Given the description of an element on the screen output the (x, y) to click on. 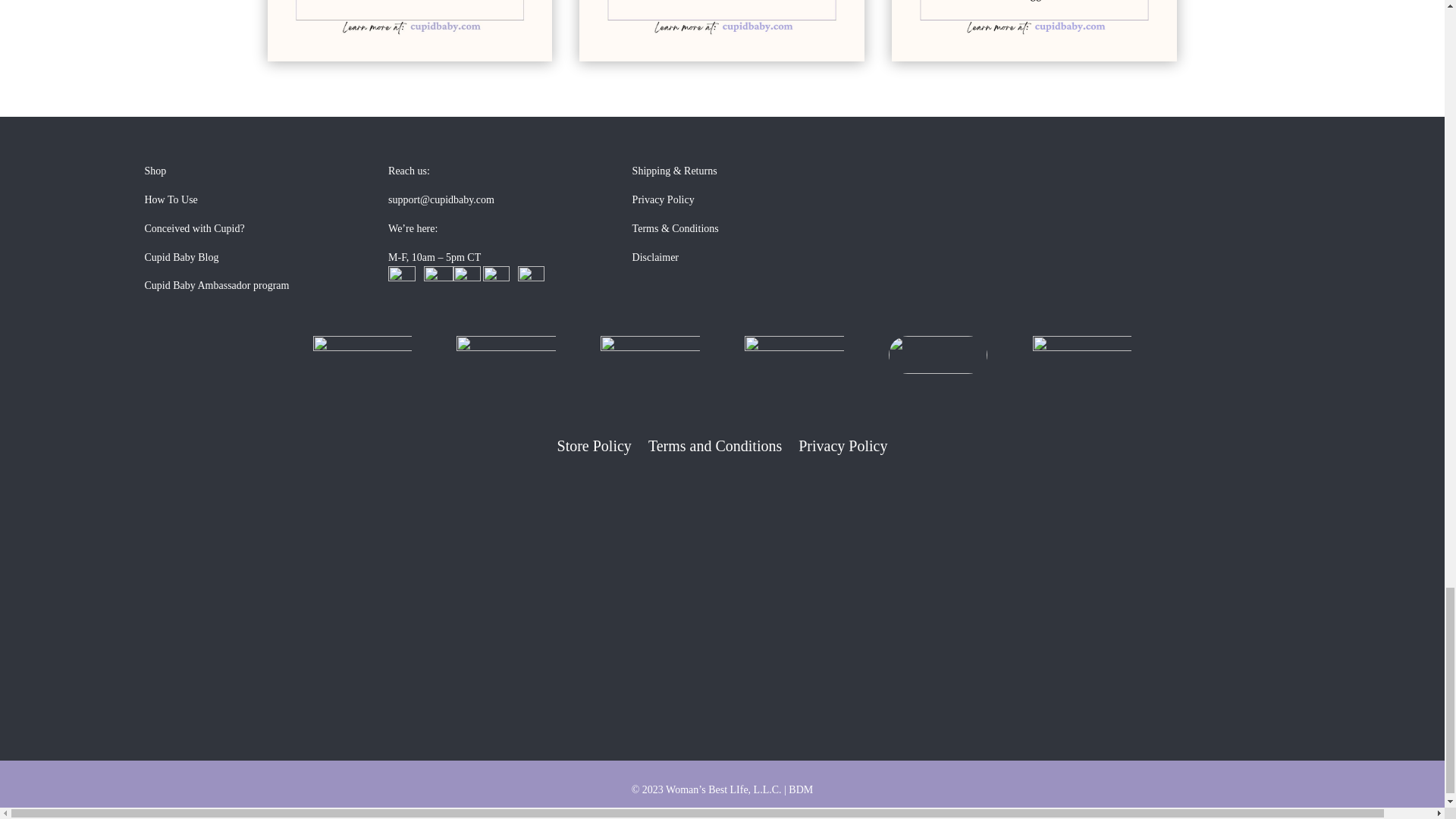
sperm faq (1033, 30)
Timed-intercourse-vs-anytime (721, 30)
CupidBaby-Safe-Secure-Checkout (505, 353)
CupidBaby-Free-Shipping (361, 353)
CupidBaby Conception Cup on Instagram (437, 277)
Email CupidBaby (401, 277)
CupidBaby Conception Cup on Pinterest (526, 277)
CupidBaby Conception Cup on YouTube (496, 277)
CupidBaby-Safe-Secure-Checkout (648, 353)
Shop (154, 170)
CupidBaby Conception Cup on Facebook (467, 277)
